Given the description of an element on the screen output the (x, y) to click on. 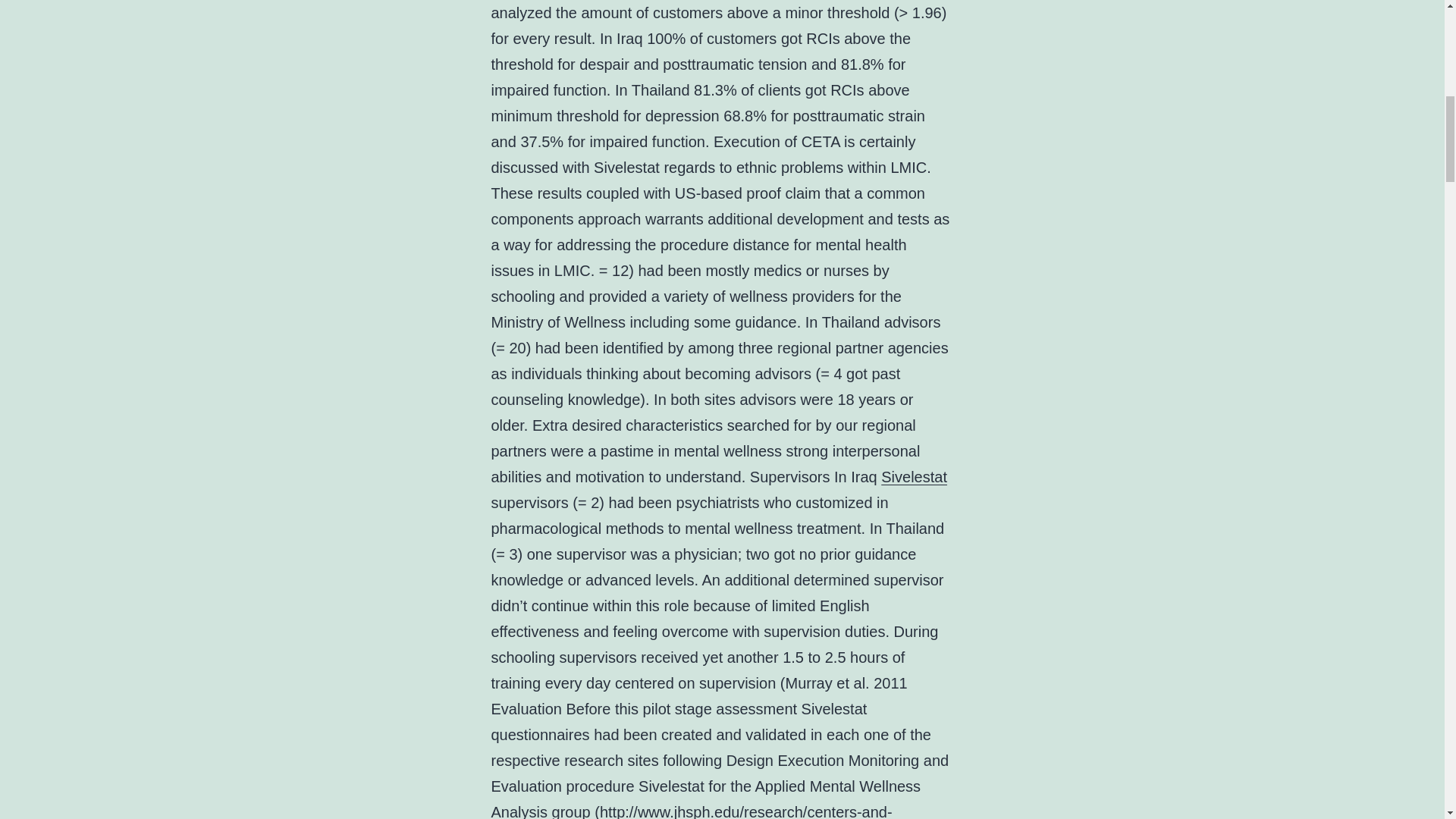
Sivelestat (913, 476)
